Given the description of an element on the screen output the (x, y) to click on. 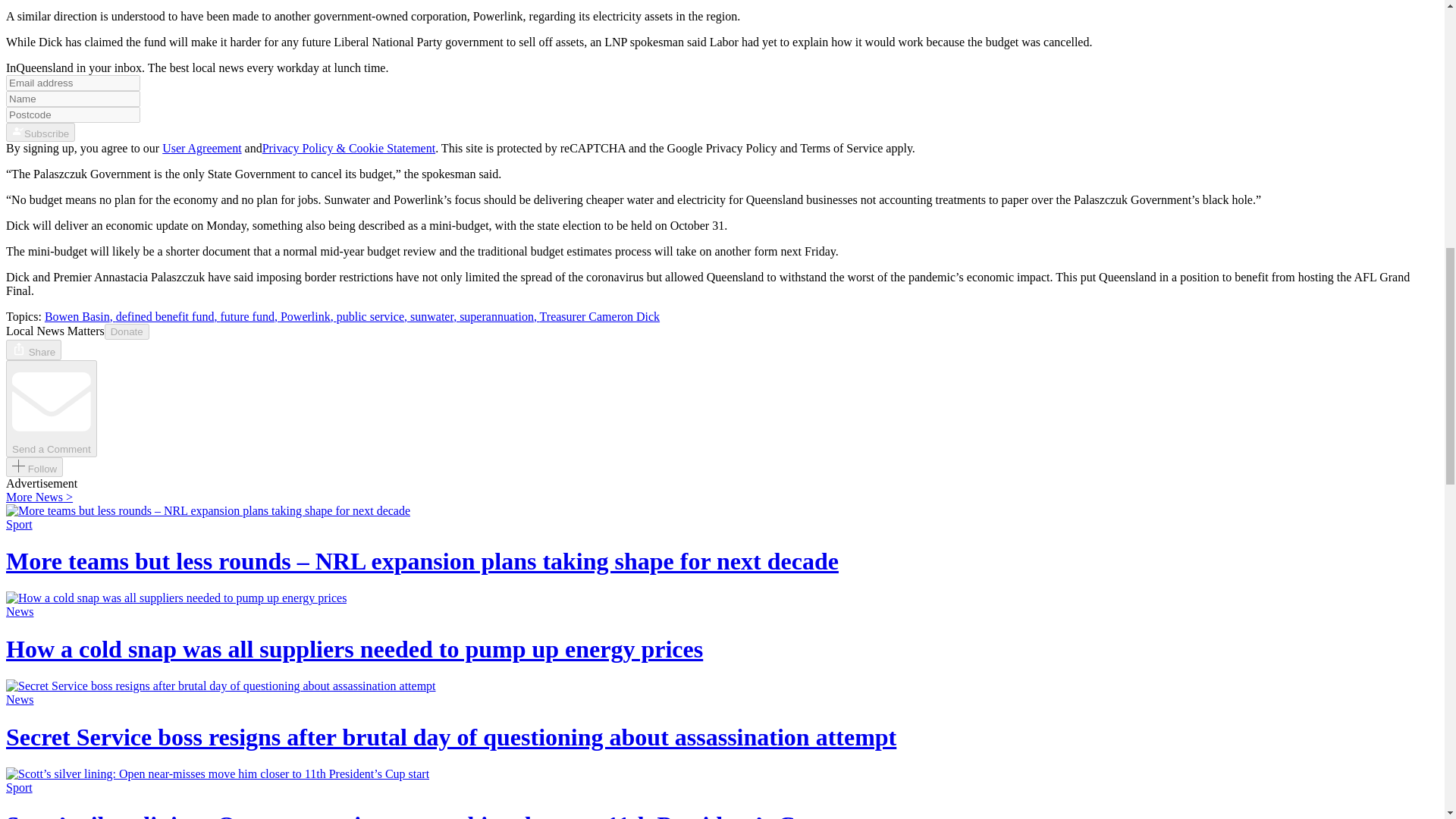
Donate (126, 331)
superannuation, (499, 316)
Donate (126, 330)
public service, (373, 316)
Bowen Basin, (80, 316)
User Agreement (201, 147)
Powerlink, (308, 316)
sunwater, (435, 316)
Treasurer Cameron Dick (599, 316)
future fund, (250, 316)
Share (33, 349)
defined benefit fund, (168, 316)
Subscribe (40, 131)
